Given the description of an element on the screen output the (x, y) to click on. 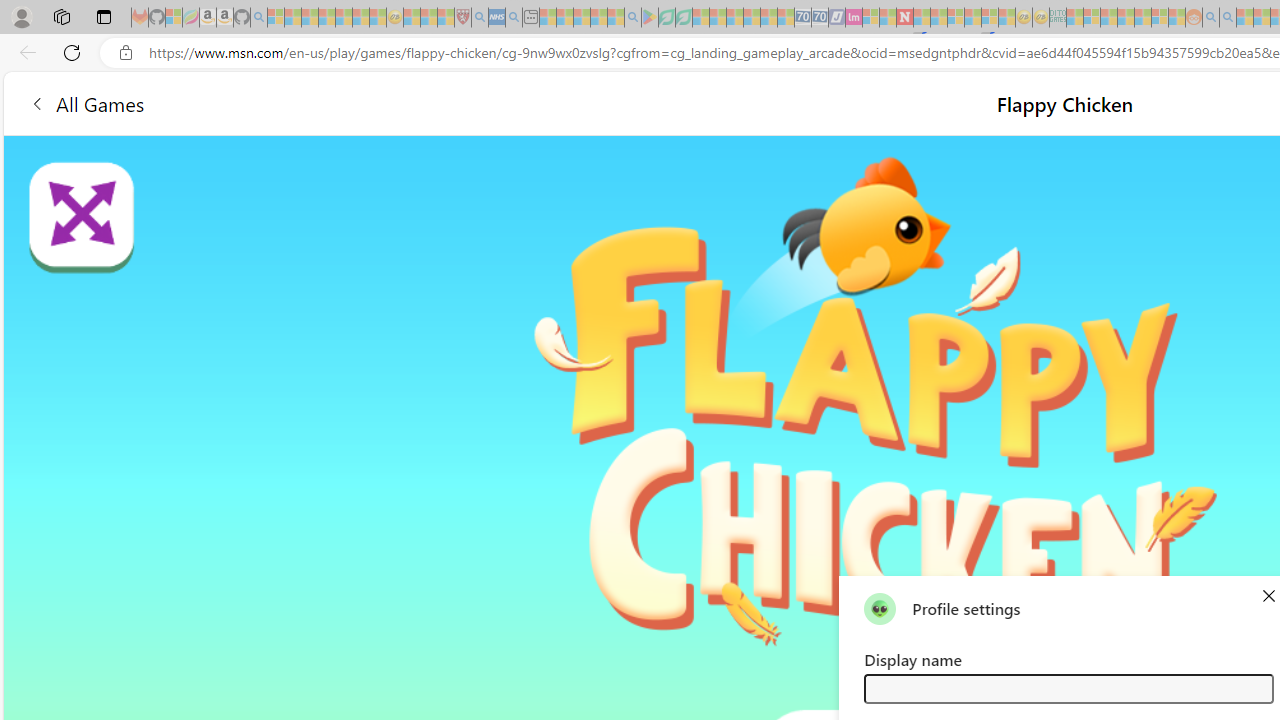
Class: text-input (1068, 688)
All Games (86, 102)
